Given the description of an element on the screen output the (x, y) to click on. 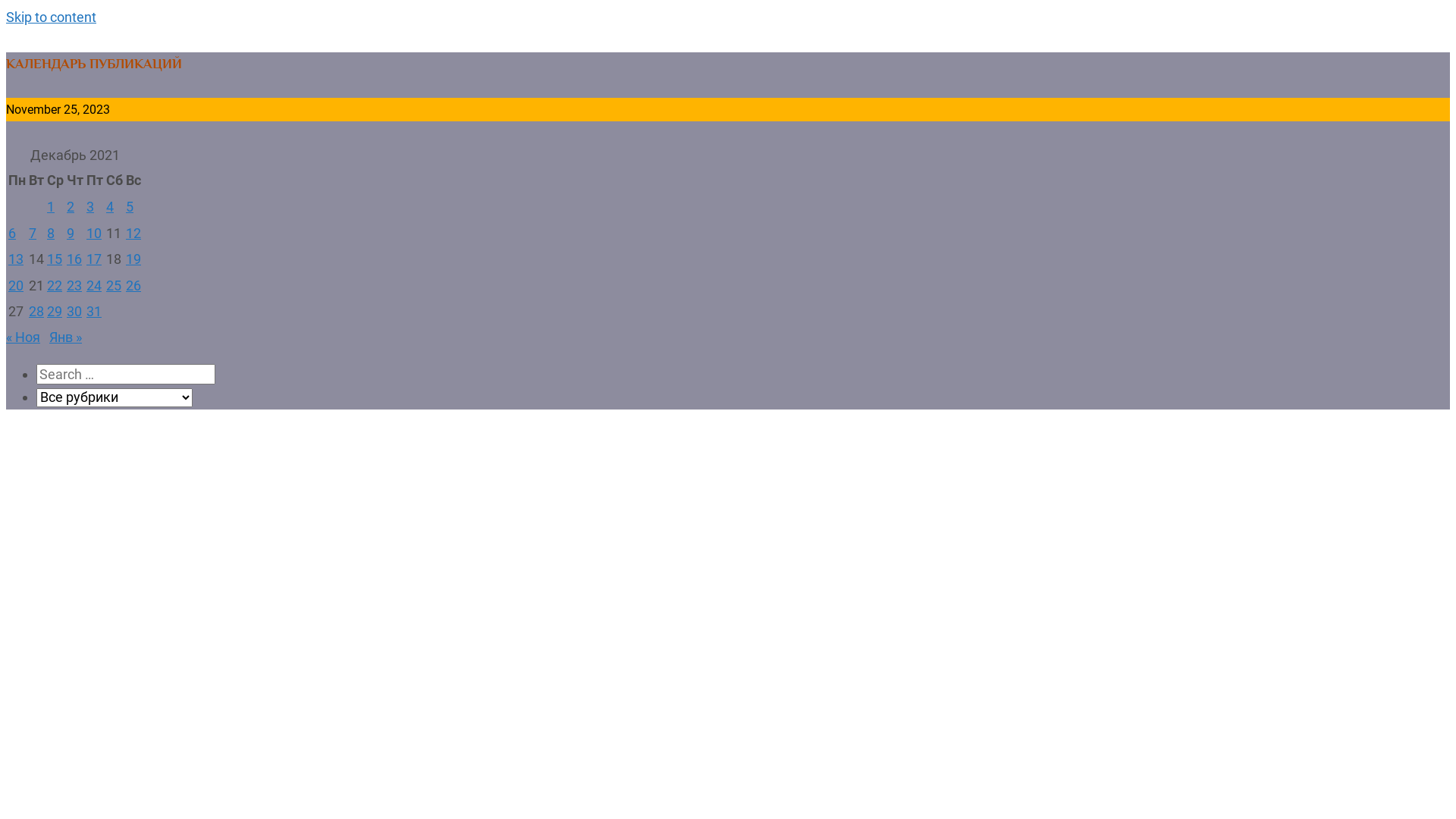
23 Element type: text (73, 285)
22 Element type: text (54, 285)
13 Element type: text (15, 258)
20 Element type: text (15, 285)
16 Element type: text (73, 258)
4 Element type: text (109, 206)
31 Element type: text (93, 311)
25 Element type: text (113, 285)
9 Element type: text (70, 233)
8 Element type: text (50, 233)
17 Element type: text (93, 258)
19 Element type: text (133, 258)
24 Element type: text (93, 285)
3 Element type: text (90, 206)
2 Element type: text (70, 206)
1 Element type: text (50, 206)
Skip to content Element type: text (51, 17)
29 Element type: text (54, 311)
15 Element type: text (54, 258)
30 Element type: text (73, 311)
5 Element type: text (129, 206)
12 Element type: text (133, 233)
10 Element type: text (93, 233)
6 Element type: text (11, 233)
7 Element type: text (32, 233)
28 Element type: text (35, 311)
26 Element type: text (133, 285)
